Given the description of an element on the screen output the (x, y) to click on. 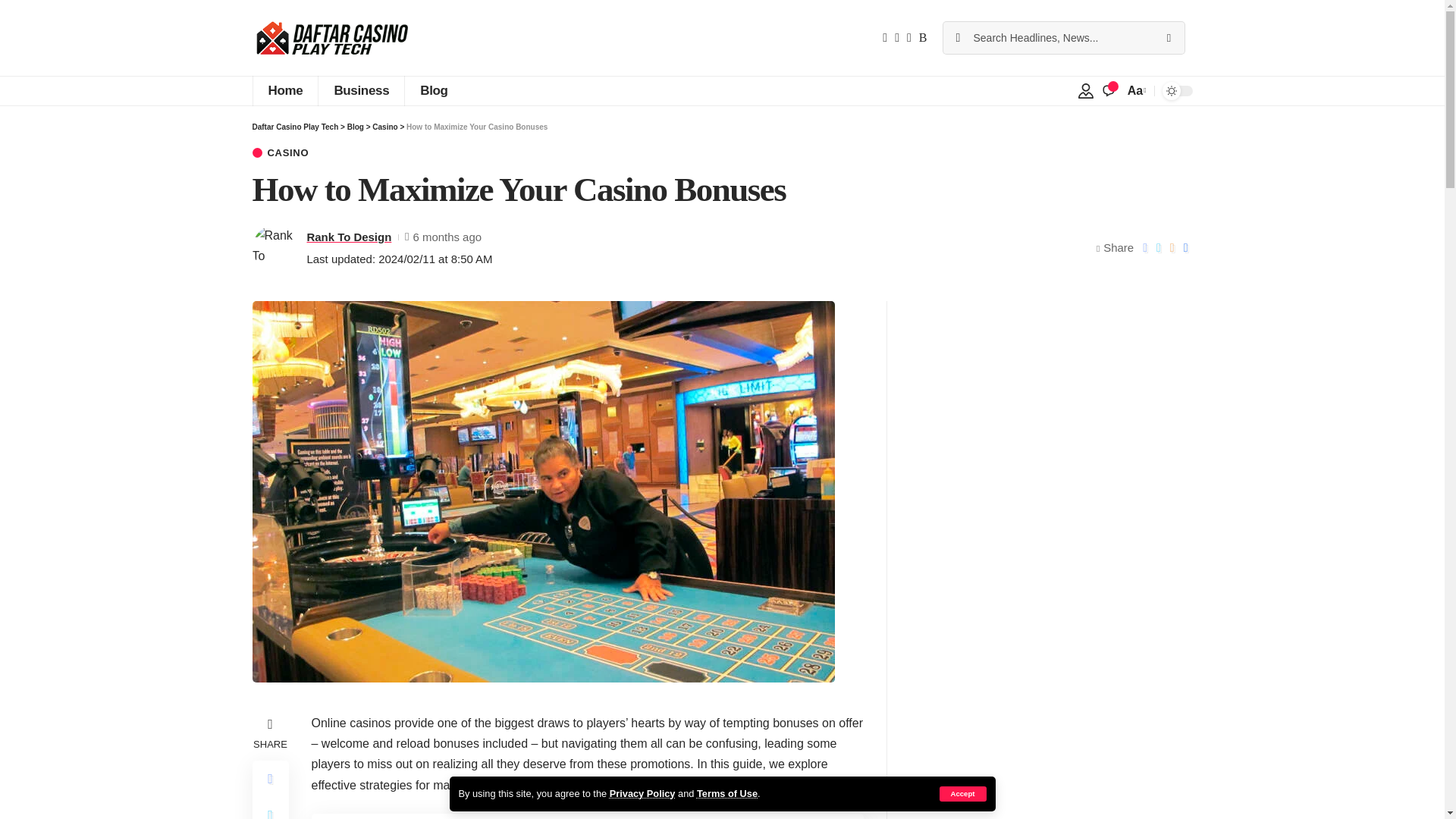
Aa (1135, 90)
Business (360, 91)
Go to Daftar Casino Play Tech. (294, 126)
Go to Blog. (355, 126)
Search (1168, 37)
Daftar Casino Play Tech (330, 37)
Accept (962, 793)
Terms of Use (727, 793)
Go to the Casino Category archives. (384, 126)
Privacy Policy (642, 793)
